Given the description of an element on the screen output the (x, y) to click on. 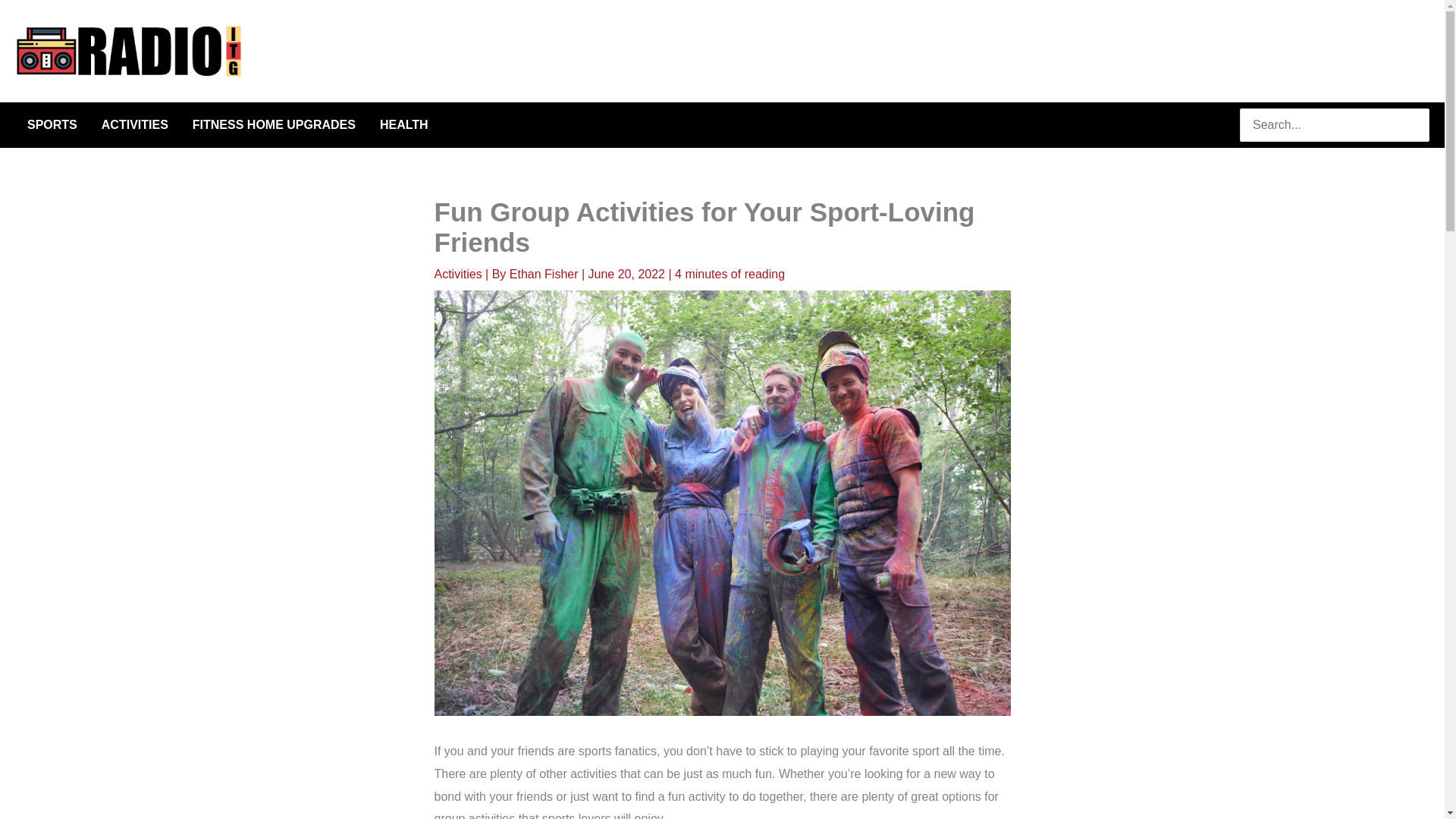
ACTIVITIES (134, 125)
Activities (457, 273)
Ethan Fisher (544, 273)
View all posts by Ethan Fisher (544, 273)
HEALTH (404, 125)
SPORTS (51, 125)
FITNESS HOME UPGRADES (274, 125)
